Given the description of an element on the screen output the (x, y) to click on. 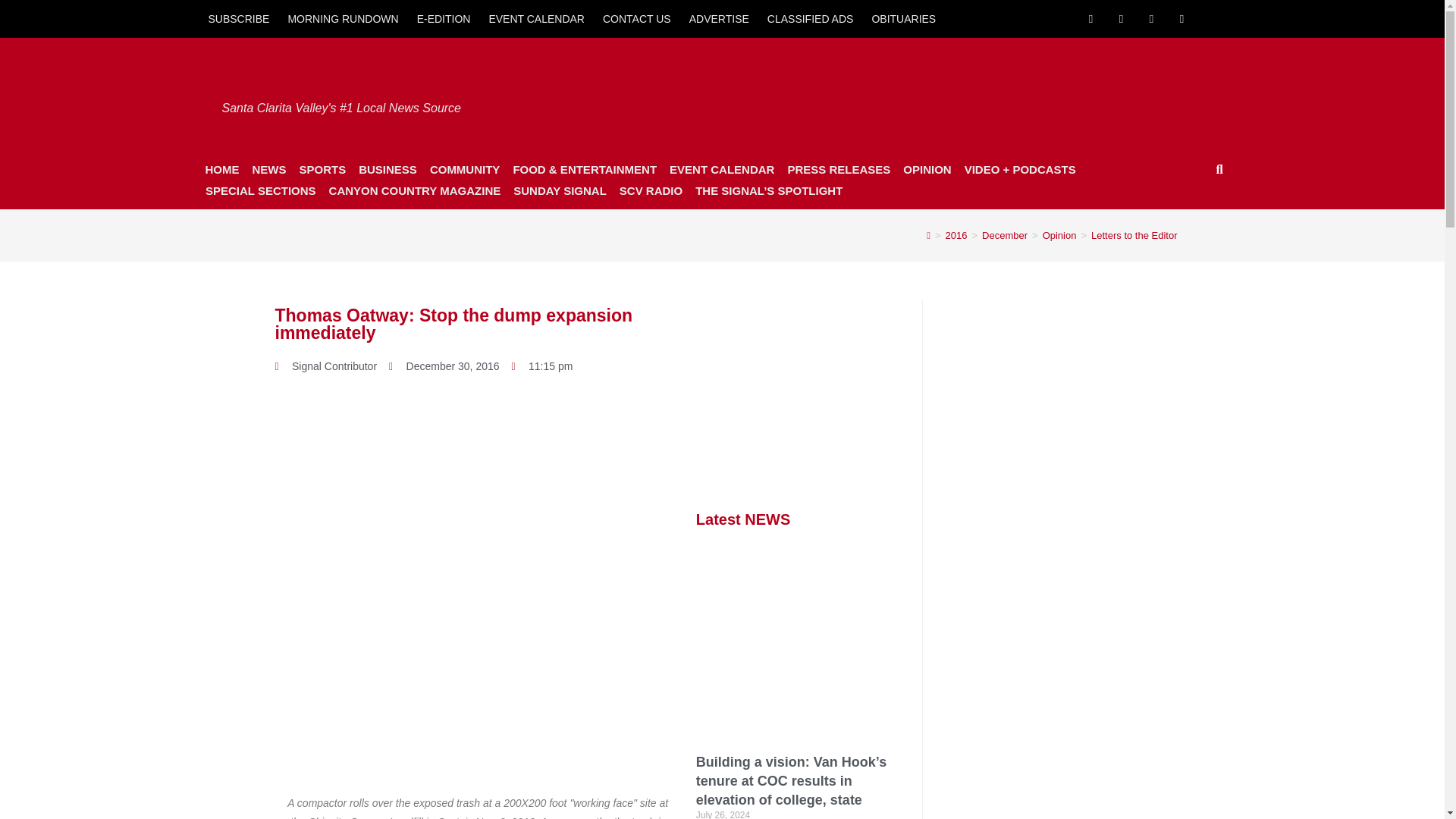
OBITUARIES (902, 18)
CONTACT US (636, 18)
ADVERTISE (718, 18)
NEWS (269, 169)
EVENT CALENDAR (536, 18)
E-EDITION (443, 18)
SPORTS (322, 169)
SUBSCRIBE (238, 18)
CLASSIFIED ADS (810, 18)
HOME (221, 169)
MORNING RUNDOWN (342, 18)
